Given the description of an element on the screen output the (x, y) to click on. 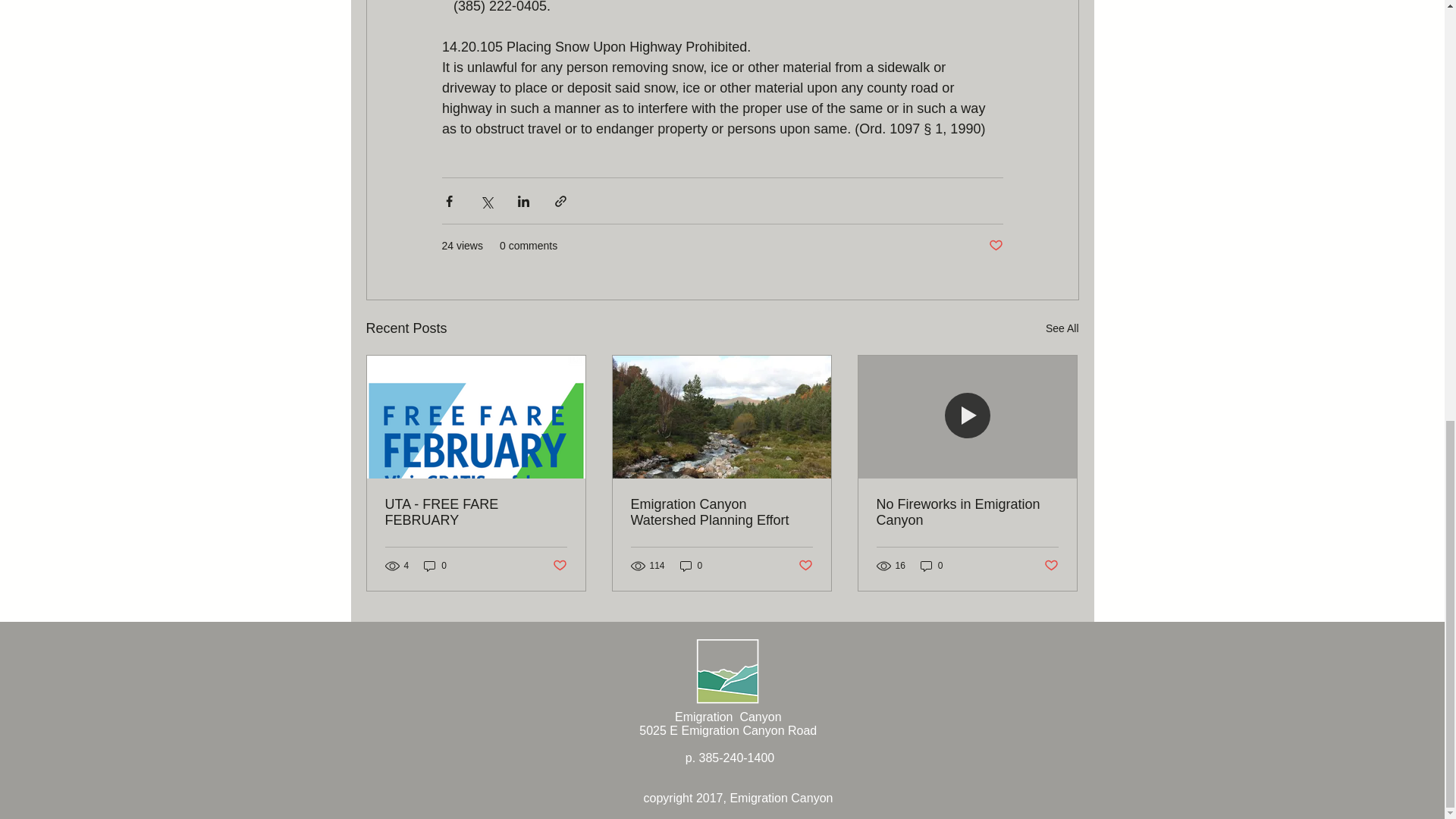
Post not marked as liked (558, 565)
Emigration Canyon Watershed Planning Effort (721, 512)
Post not marked as liked (804, 565)
See All (1061, 328)
0 (931, 565)
UTA - FREE FARE FEBRUARY (476, 512)
No Fireworks in Emigration Canyon (967, 512)
Post not marked as liked (1050, 565)
Post not marked as liked (995, 245)
0 (435, 565)
